Given the description of an element on the screen output the (x, y) to click on. 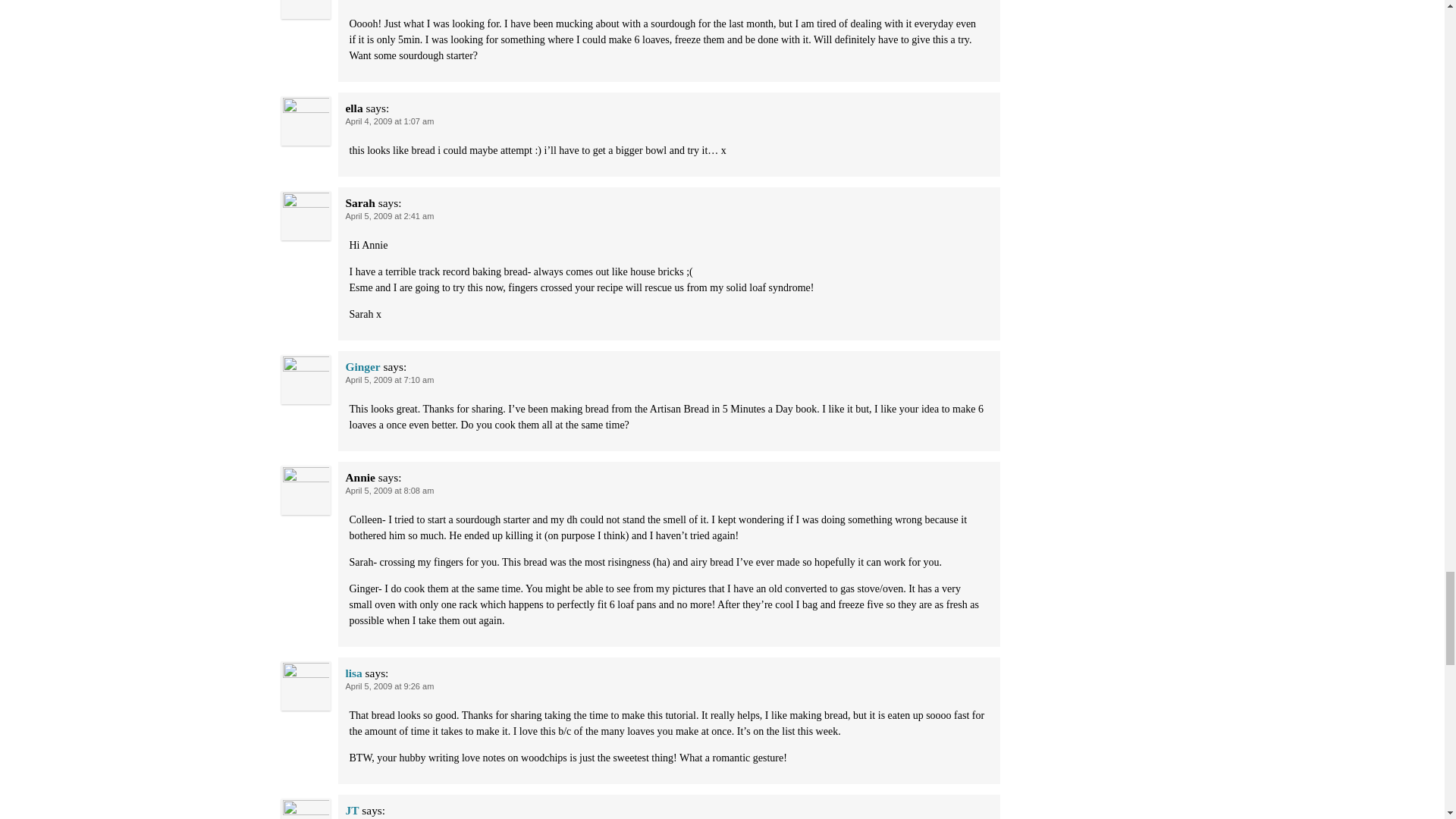
Ginger (363, 366)
lisa (354, 672)
April 5, 2009 at 7:10 am (389, 379)
April 5, 2009 at 9:26 am (389, 686)
April 5, 2009 at 2:41 am (389, 215)
JT (352, 809)
April 5, 2009 at 8:08 am (389, 490)
April 4, 2009 at 1:07 am (389, 121)
